Given the description of an element on the screen output the (x, y) to click on. 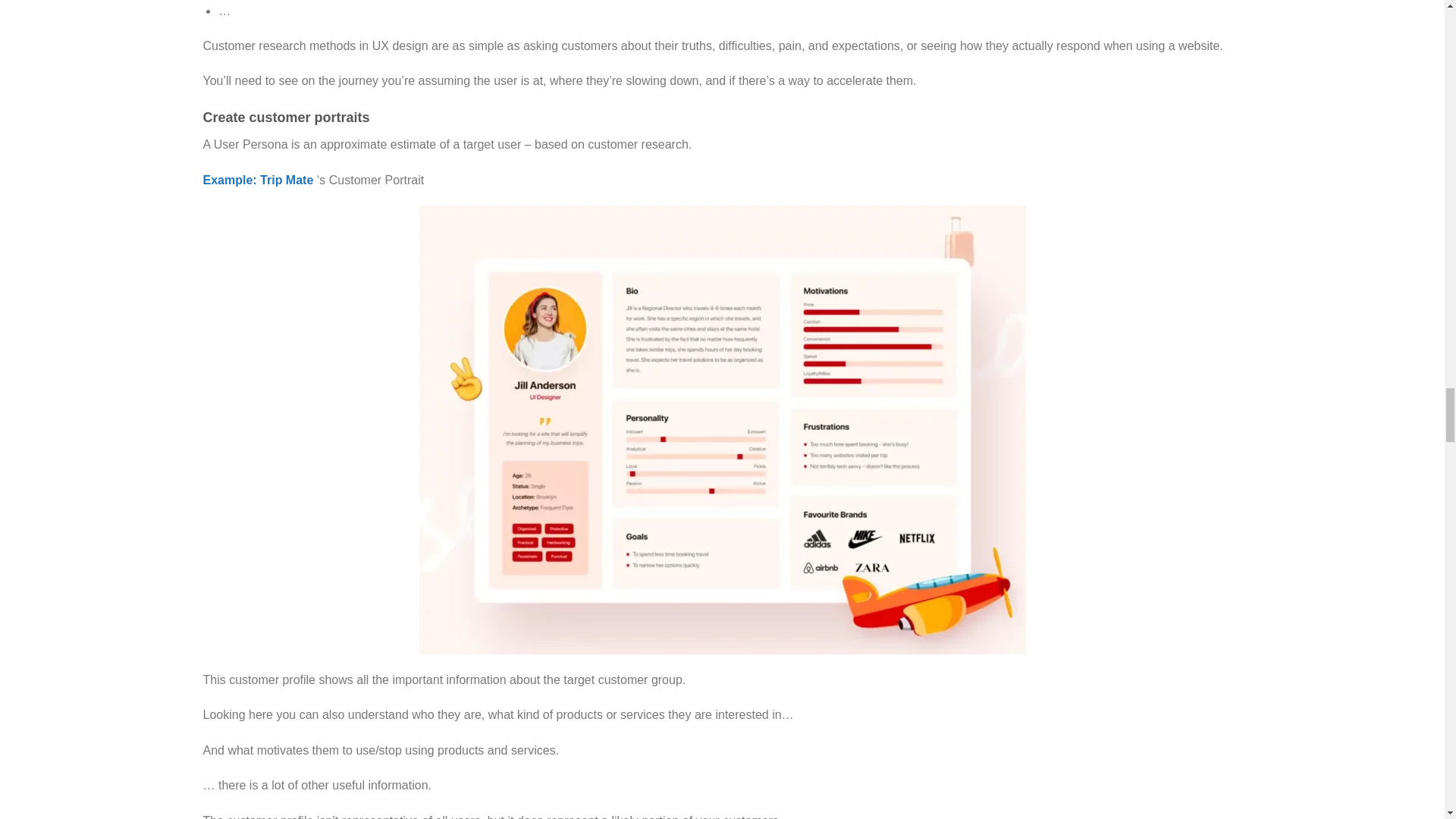
Example: Trip Mate (258, 179)
